Given the description of an element on the screen output the (x, y) to click on. 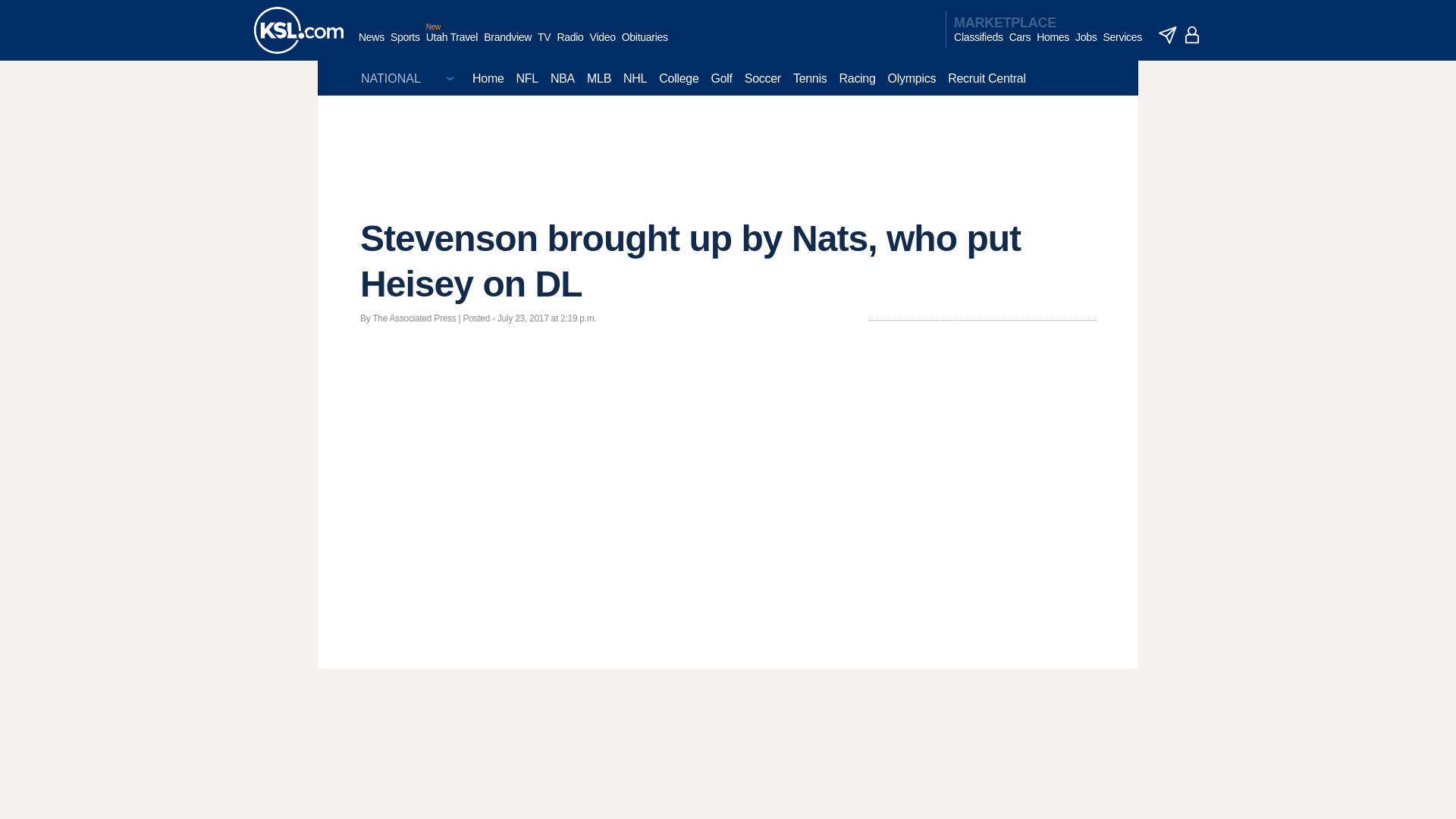
TV (543, 45)
Sports (405, 45)
Brandview (507, 45)
News (371, 45)
Utah Travel (452, 45)
KSL homepage (298, 30)
KSL homepage (298, 29)
account - logged out (1191, 34)
